Given the description of an element on the screen output the (x, y) to click on. 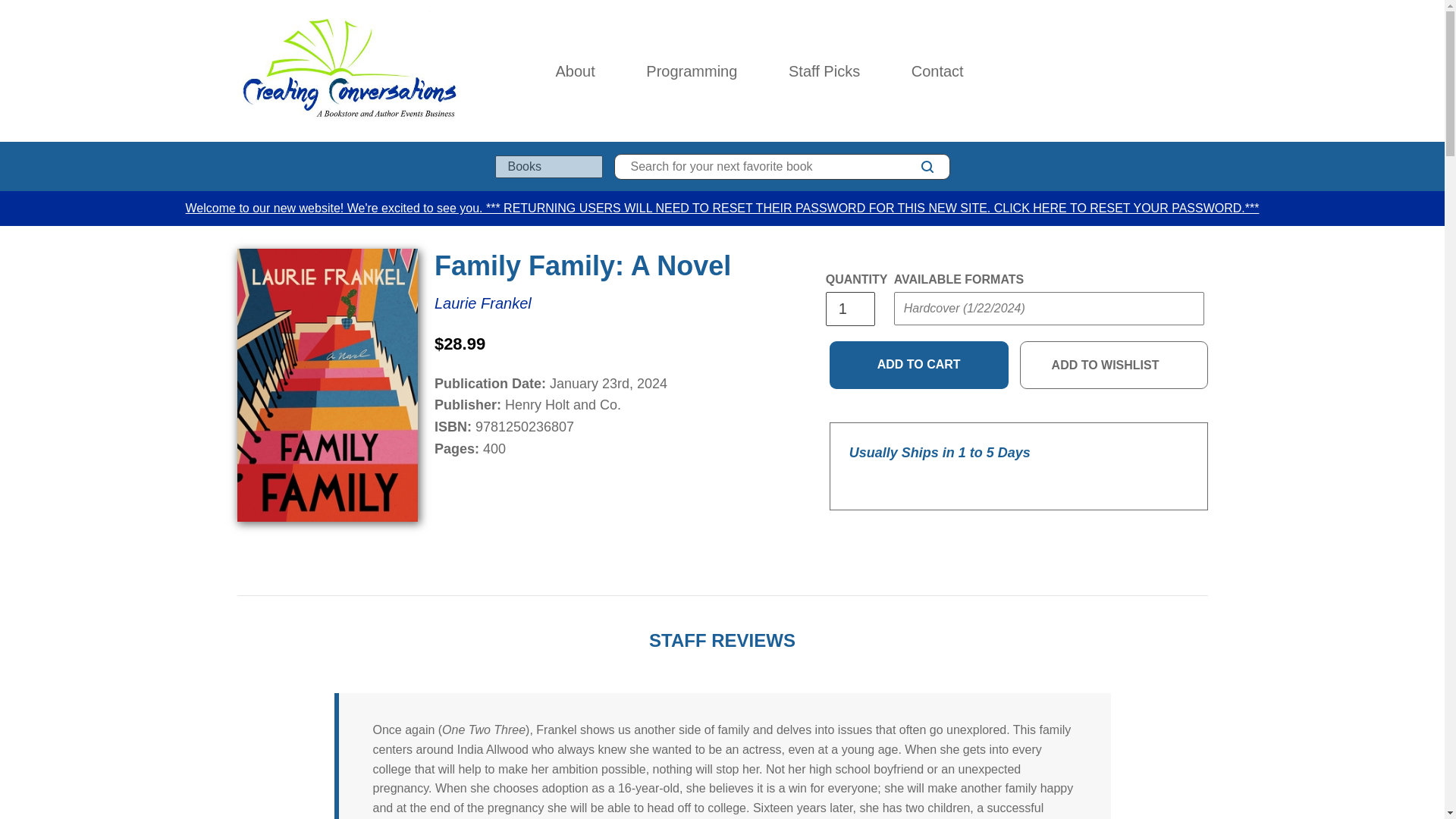
1 (850, 308)
Laurie Frankel (482, 303)
Log in (1134, 70)
ADD TO WISHLIST (1114, 365)
Wishlists (1168, 70)
Add to cart (919, 365)
Cart (1201, 70)
Log in (1134, 70)
Add to cart (919, 365)
Submit (922, 338)
